Given the description of an element on the screen output the (x, y) to click on. 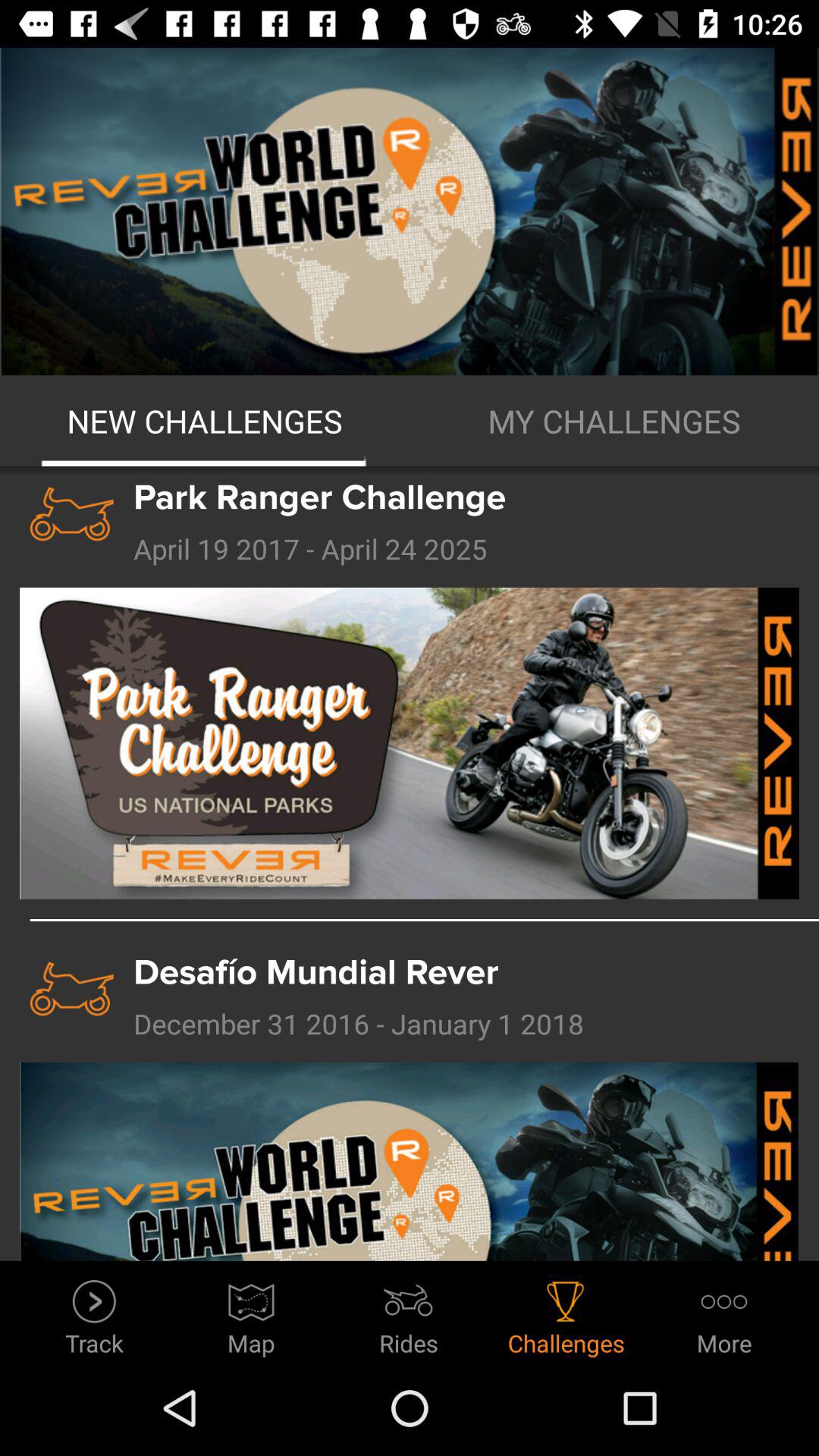
click the icon next to the new challenges icon (614, 420)
